Given the description of an element on the screen output the (x, y) to click on. 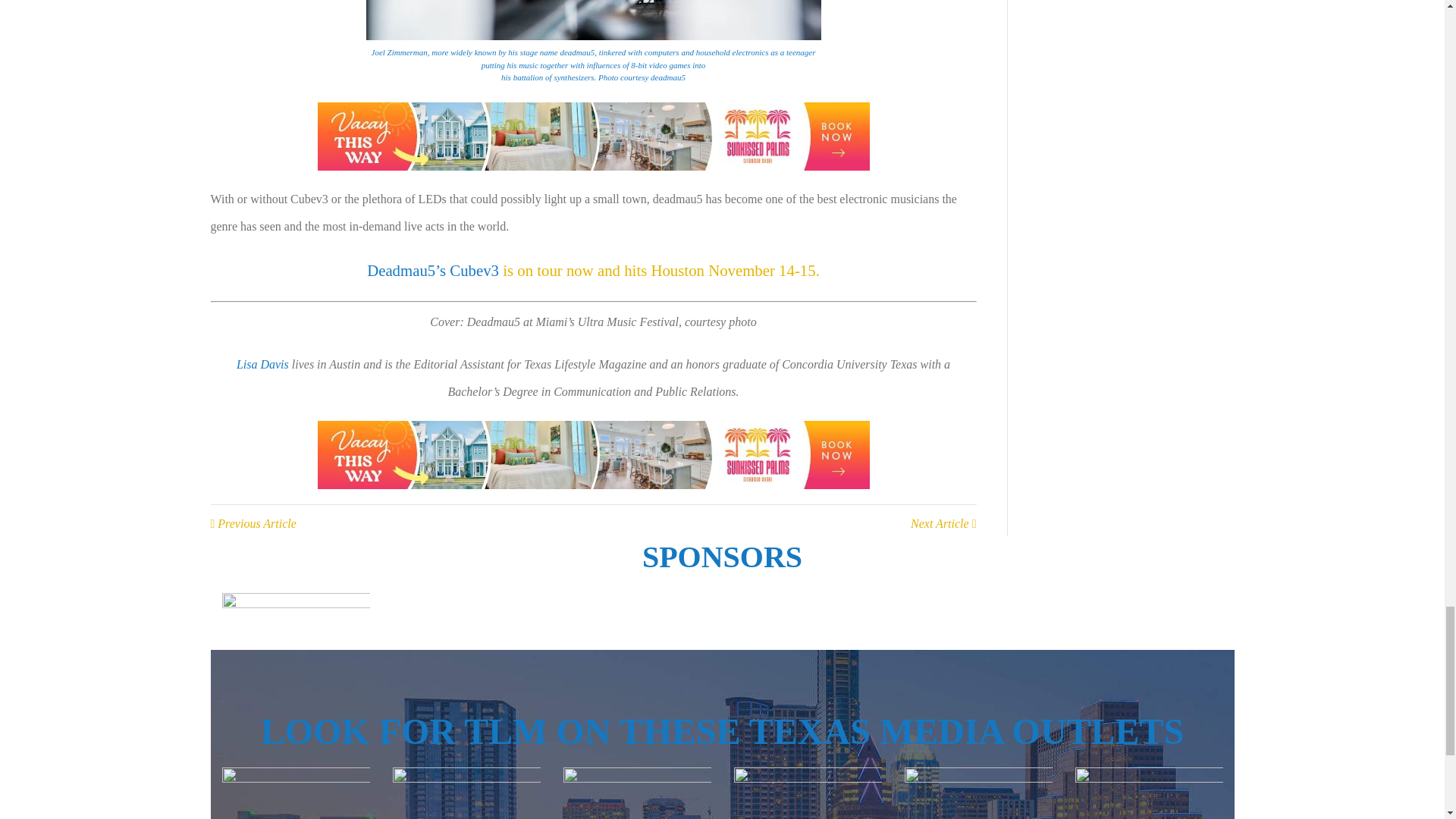
Daytime (807, 793)
Intercontinental SA Logo (295, 620)
KVUE (466, 793)
Studio 512 (1149, 793)
SA Living (977, 793)
Daytime (295, 793)
KHOU (636, 793)
